Given the description of an element on the screen output the (x, y) to click on. 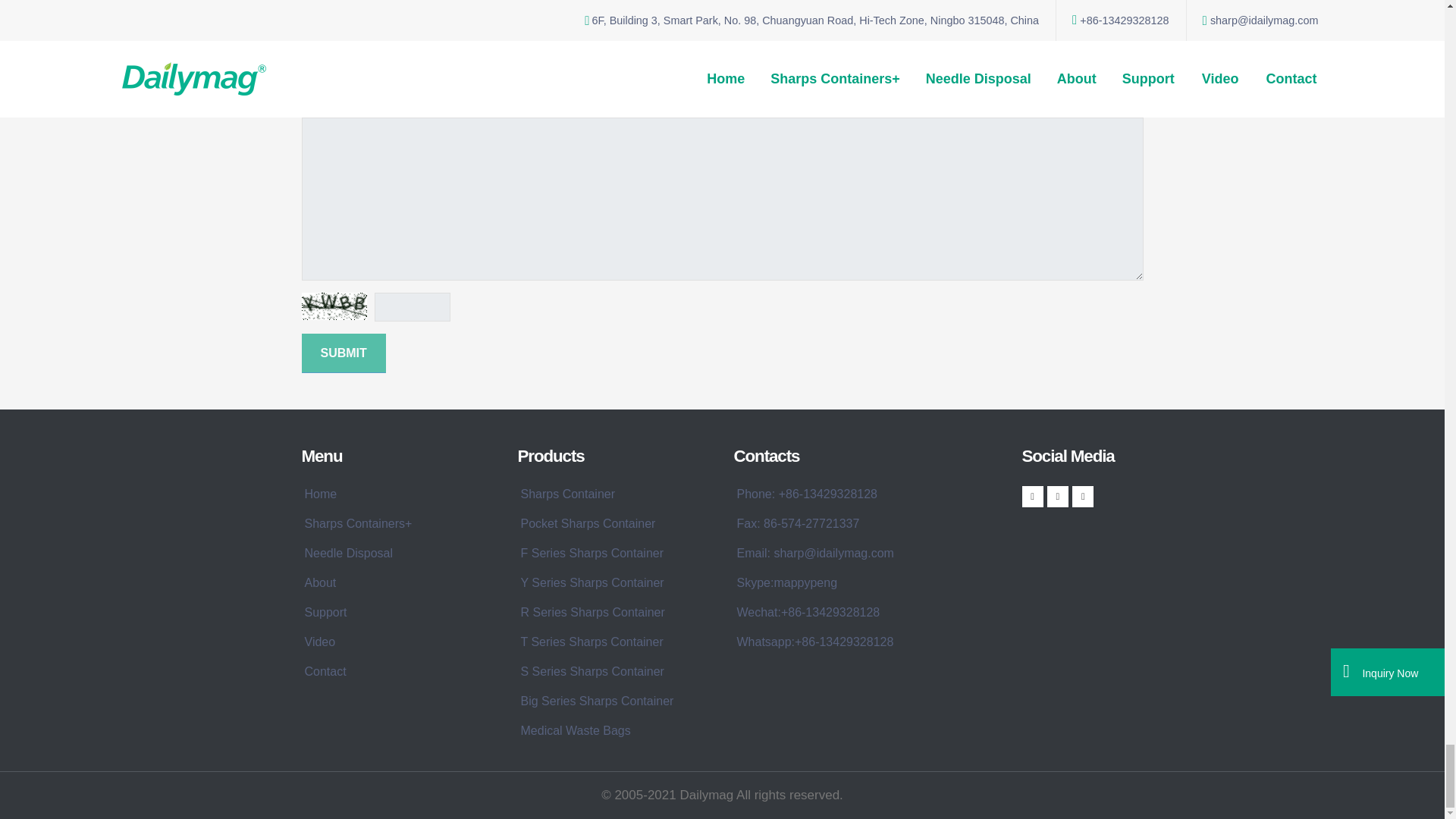
Linkedin (1082, 496)
Facebook (1032, 496)
Twitter (1057, 496)
Submit (343, 353)
